Given the description of an element on the screen output the (x, y) to click on. 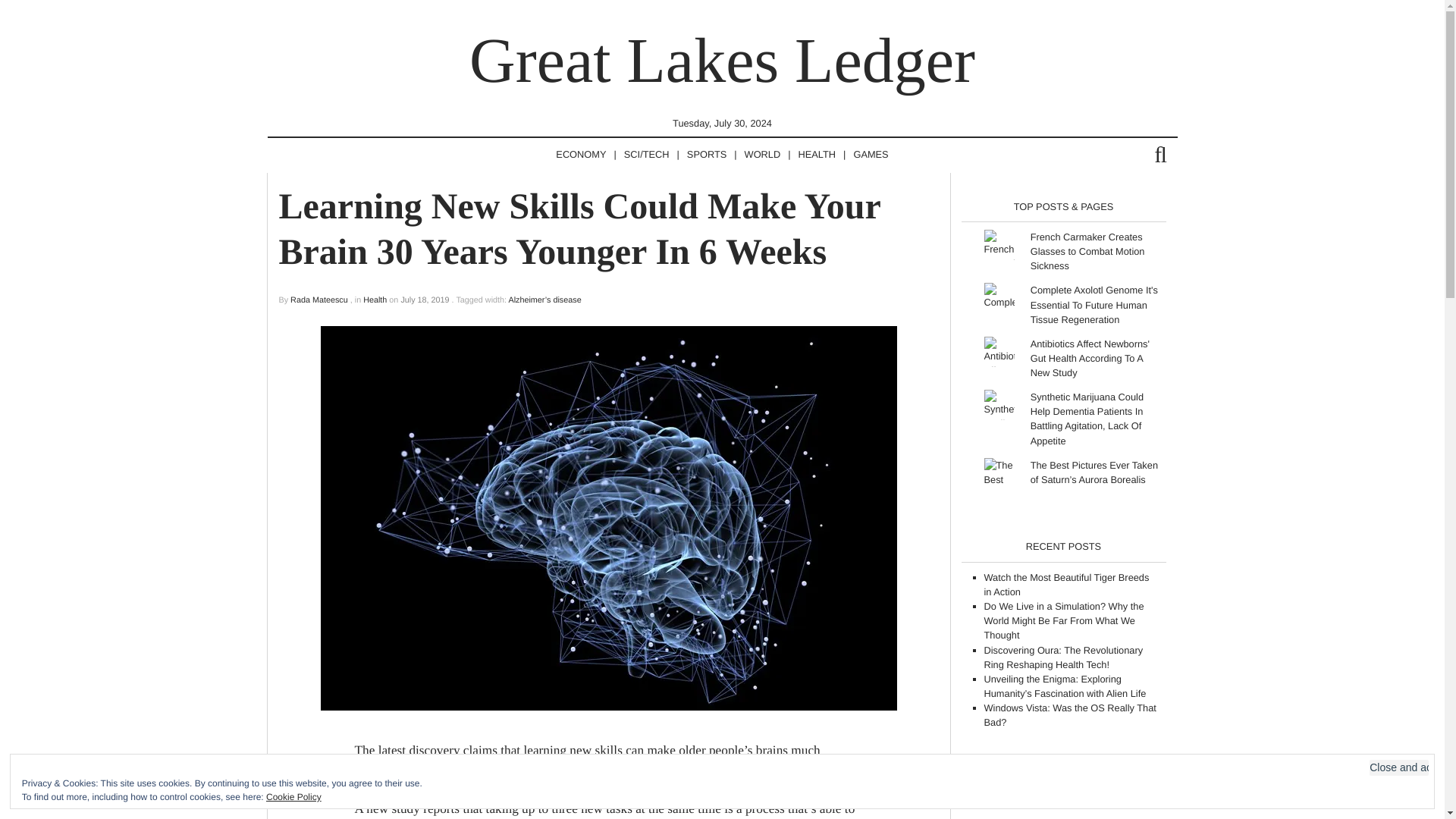
French Carmaker Creates Glasses to Combat Motion Sickness (1087, 250)
SPORTS (706, 154)
GAMES (870, 154)
Health (374, 299)
Watch the Most Beautiful Tiger Breeds in Action (1067, 584)
HEALTH (817, 154)
ECONOMY (580, 154)
Great Lakes Ledger (721, 60)
WORLD (762, 154)
